Given the description of an element on the screen output the (x, y) to click on. 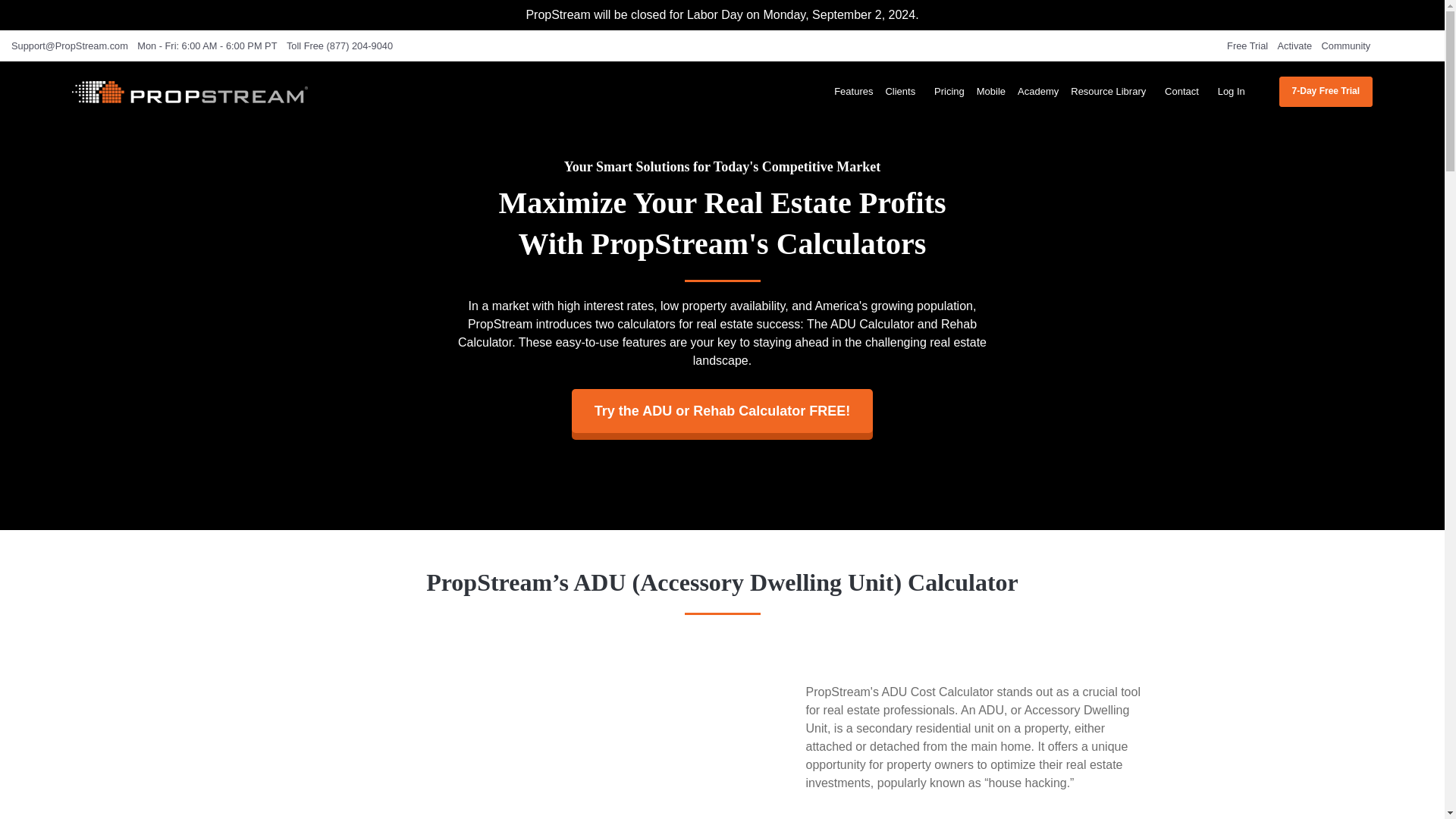
Features (853, 91)
Resource Library (1111, 91)
Clients (903, 91)
Contact (1184, 91)
Free Trial (1250, 45)
Activate (1298, 45)
Academy (1037, 91)
Mon - Fri: 6:00 AM - 6:00 PM PT (209, 45)
Community (1349, 45)
